Given the description of an element on the screen output the (x, y) to click on. 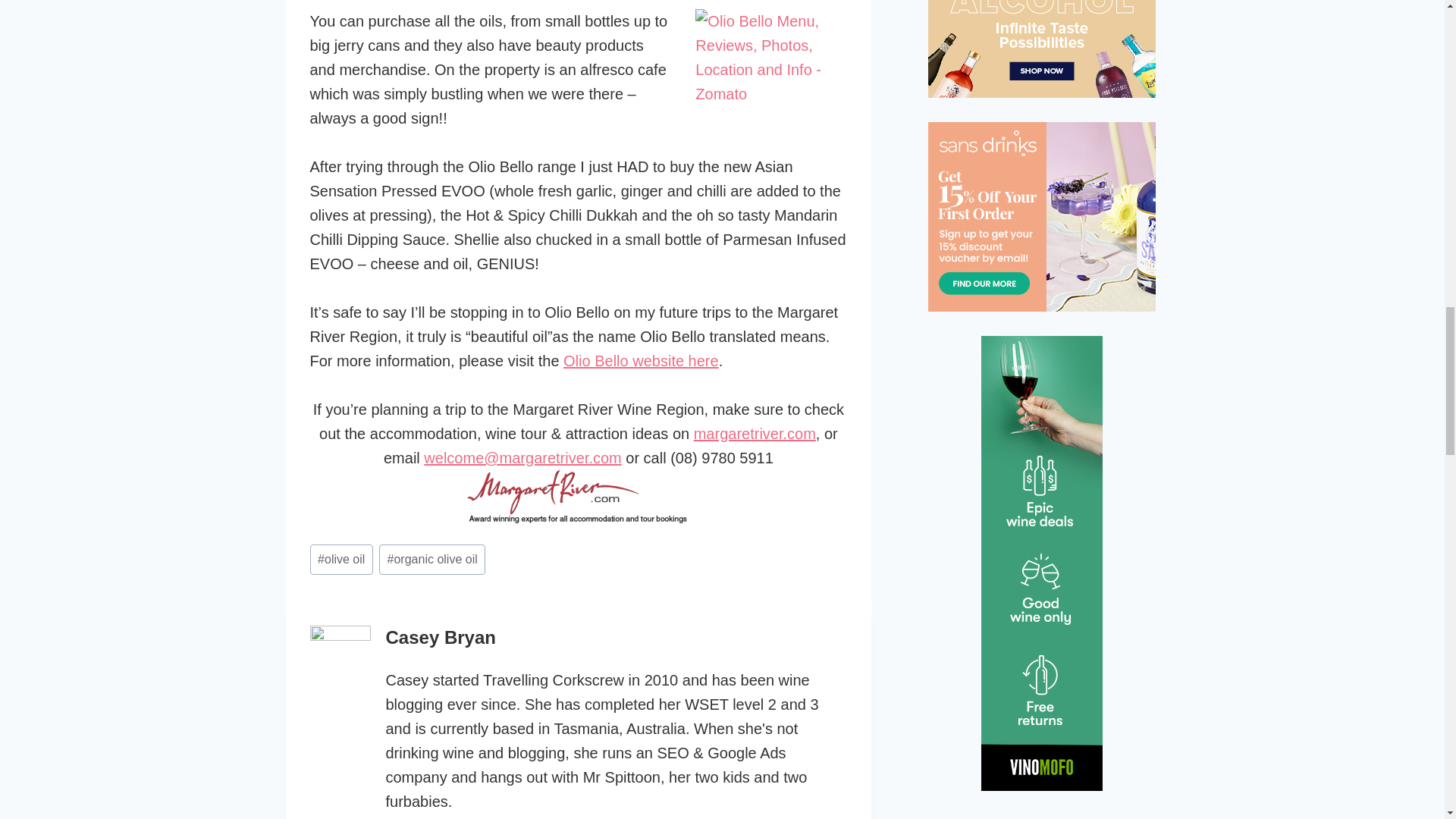
Posts by Casey Bryan (440, 637)
organic olive oil (431, 559)
olive oil (340, 559)
margaretriver.com (754, 433)
Olio Bello website here (641, 360)
